Given the description of an element on the screen output the (x, y) to click on. 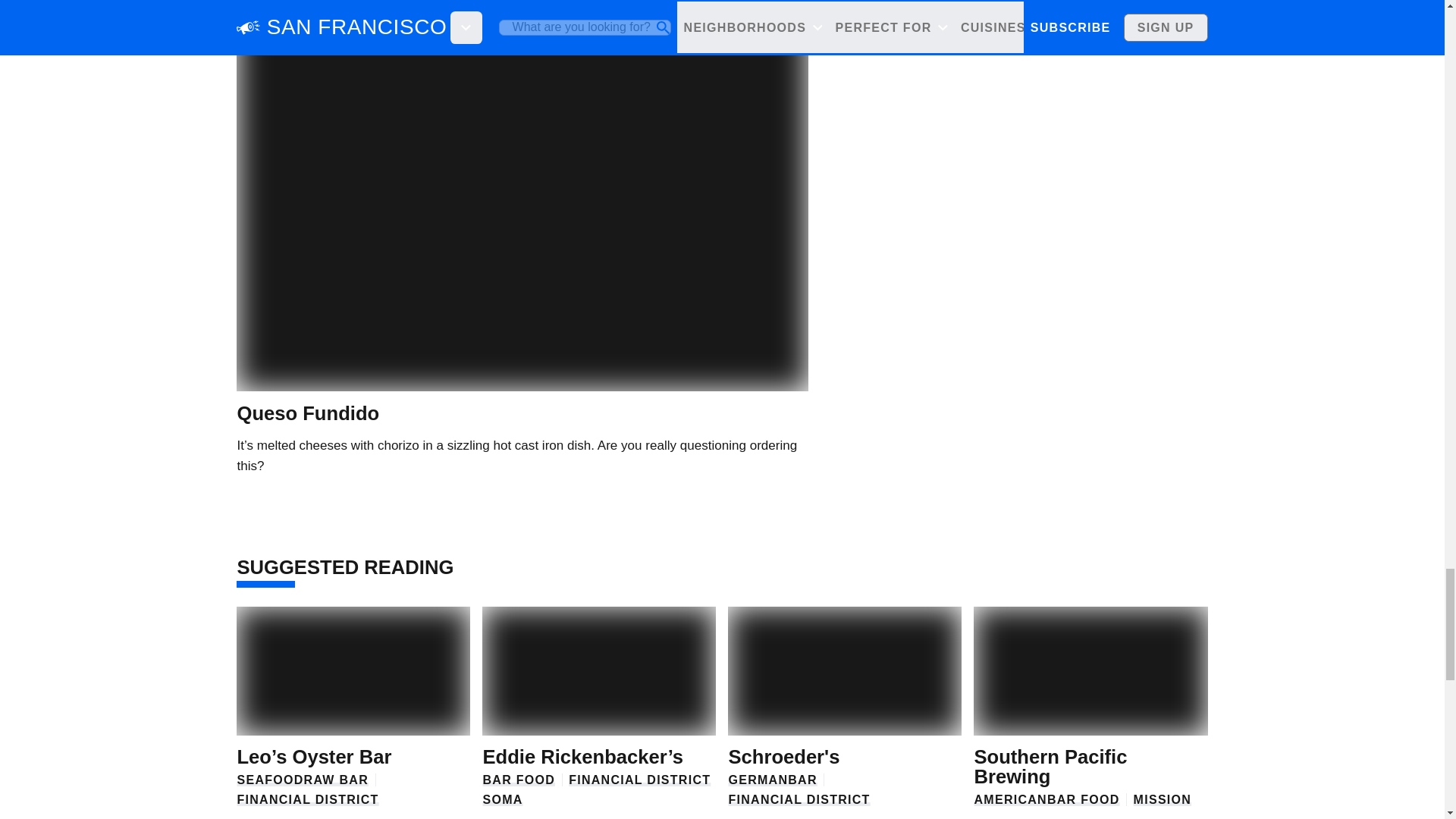
Southern Pacific Brewing (1050, 766)
FINANCIAL DISTRICT (798, 799)
SEAFOOD (268, 779)
FINANCIAL DISTRICT (306, 799)
Schroeder's (784, 756)
GERMAN (757, 779)
BAR (801, 779)
RAW BAR (336, 779)
BAR FOOD (517, 779)
SOMA (501, 799)
FINANCIAL DISTRICT (639, 779)
